Given the description of an element on the screen output the (x, y) to click on. 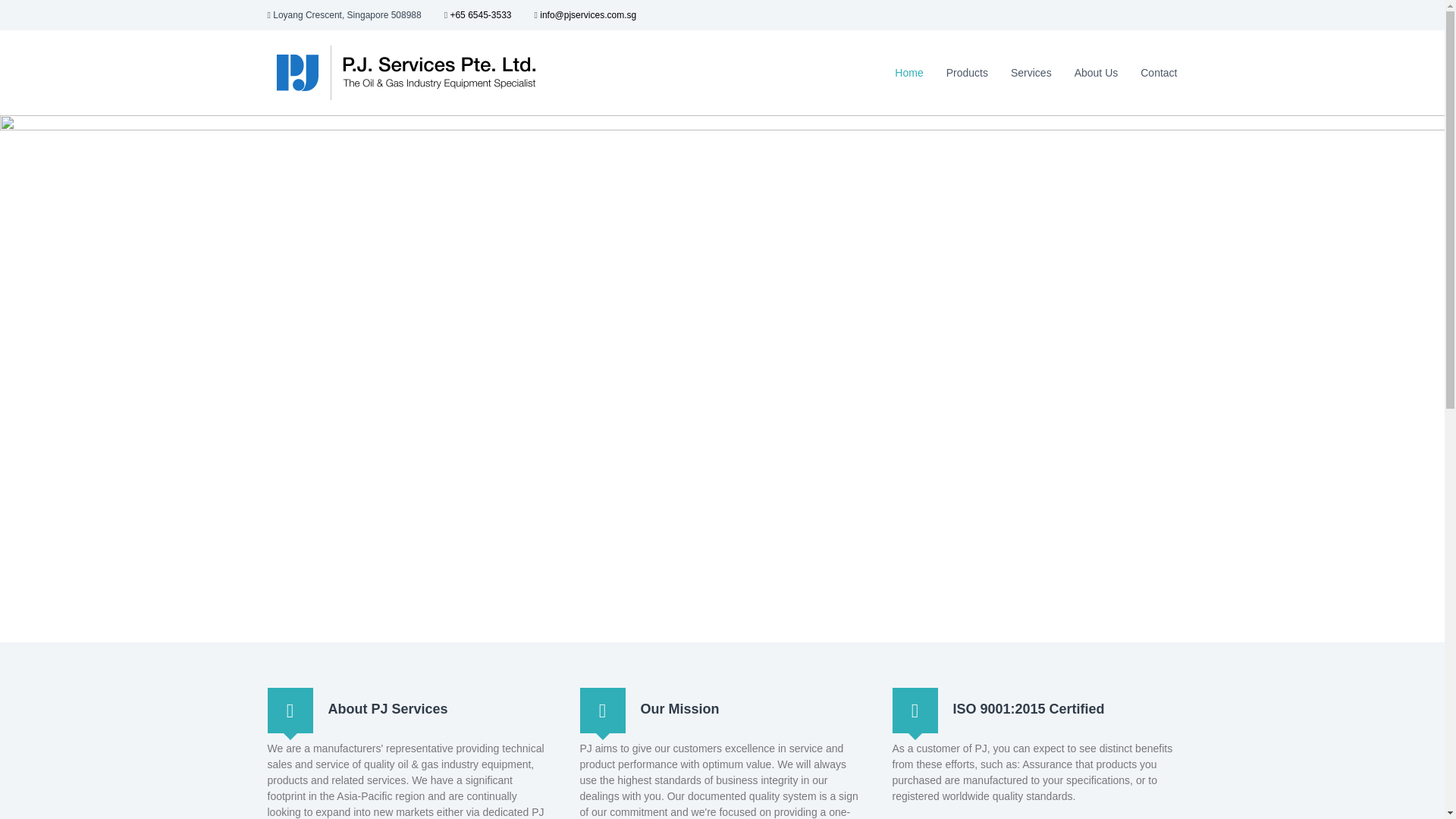
About Us (1096, 72)
Products (967, 72)
Home (909, 72)
Contact (1158, 72)
Services (1030, 72)
